Given the description of an element on the screen output the (x, y) to click on. 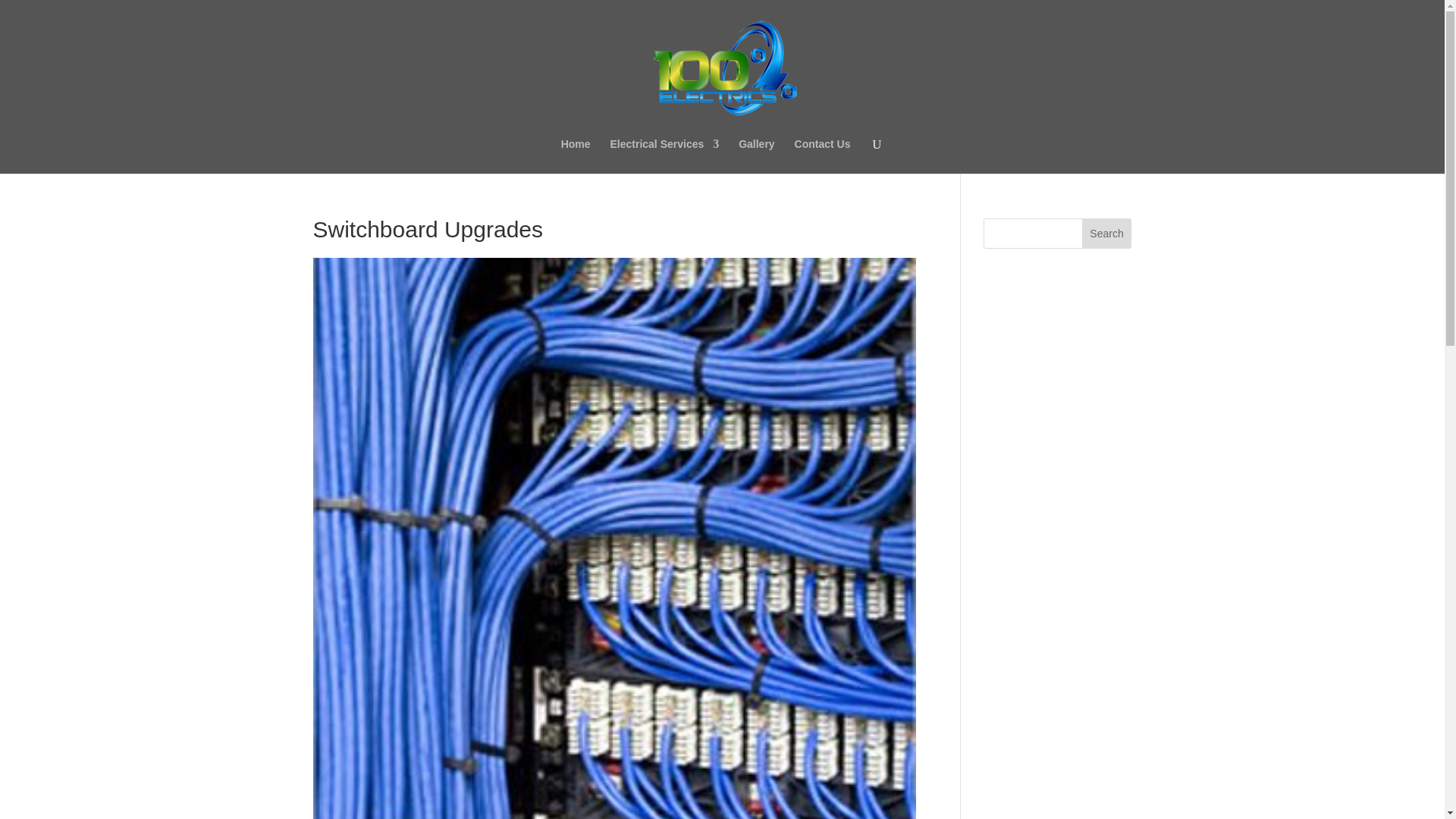
Gallery (756, 155)
Search (1106, 233)
Contact Us (822, 155)
Electrical Services (664, 155)
Search (1106, 233)
